Given the description of an element on the screen output the (x, y) to click on. 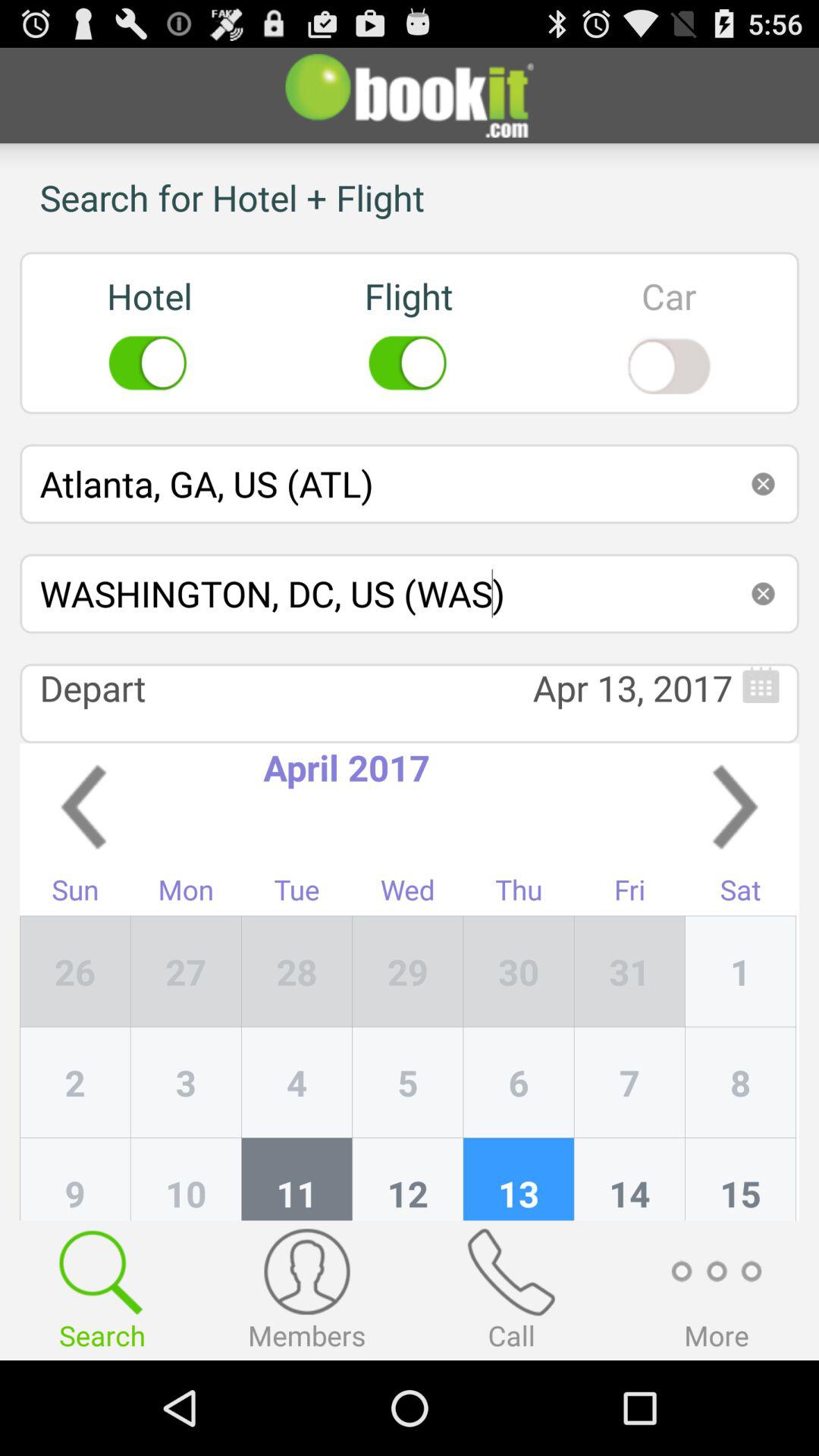
turn on the app next to mon (296, 971)
